Given the description of an element on the screen output the (x, y) to click on. 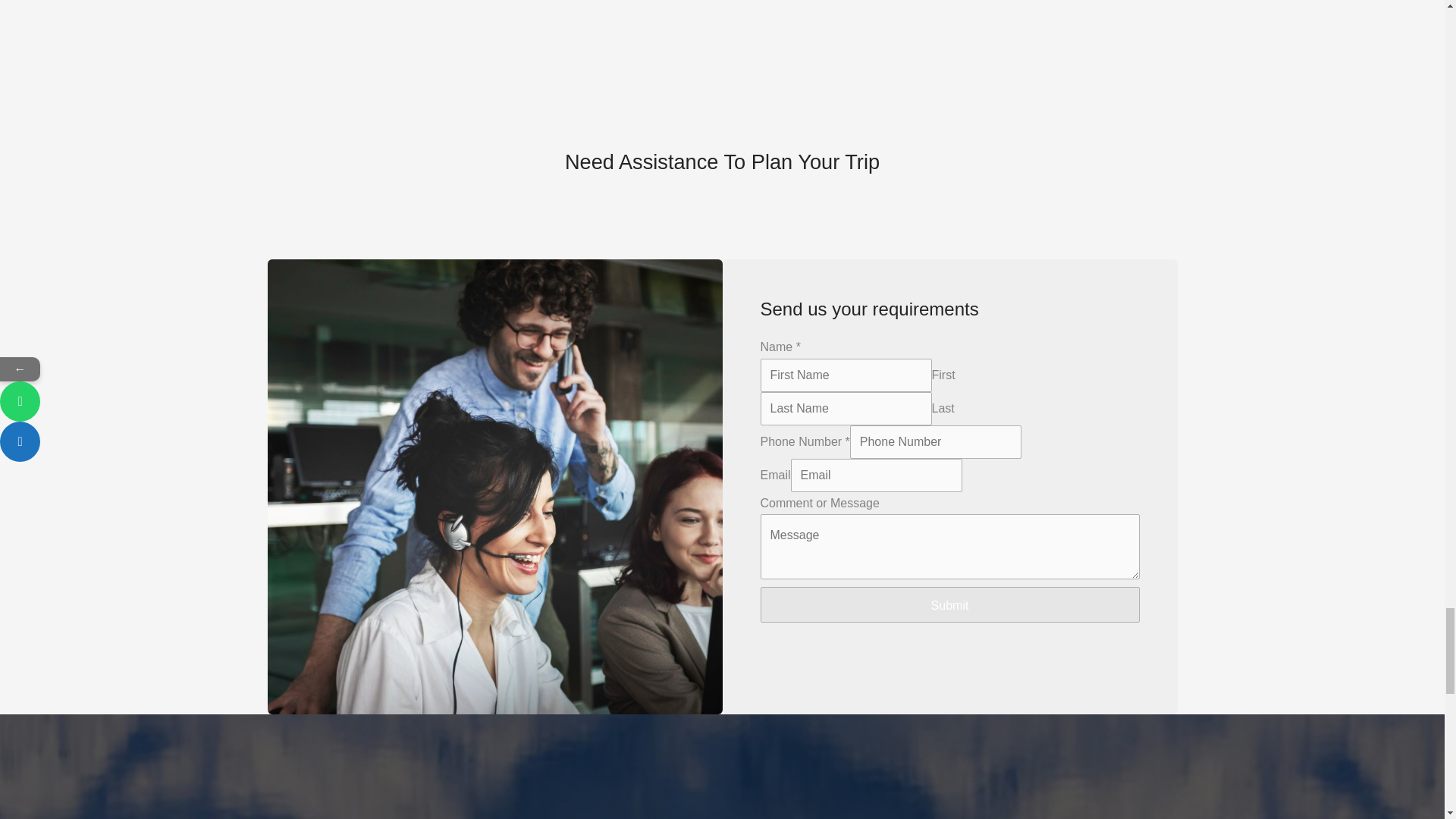
Submit (949, 605)
